Given the description of an element on the screen output the (x, y) to click on. 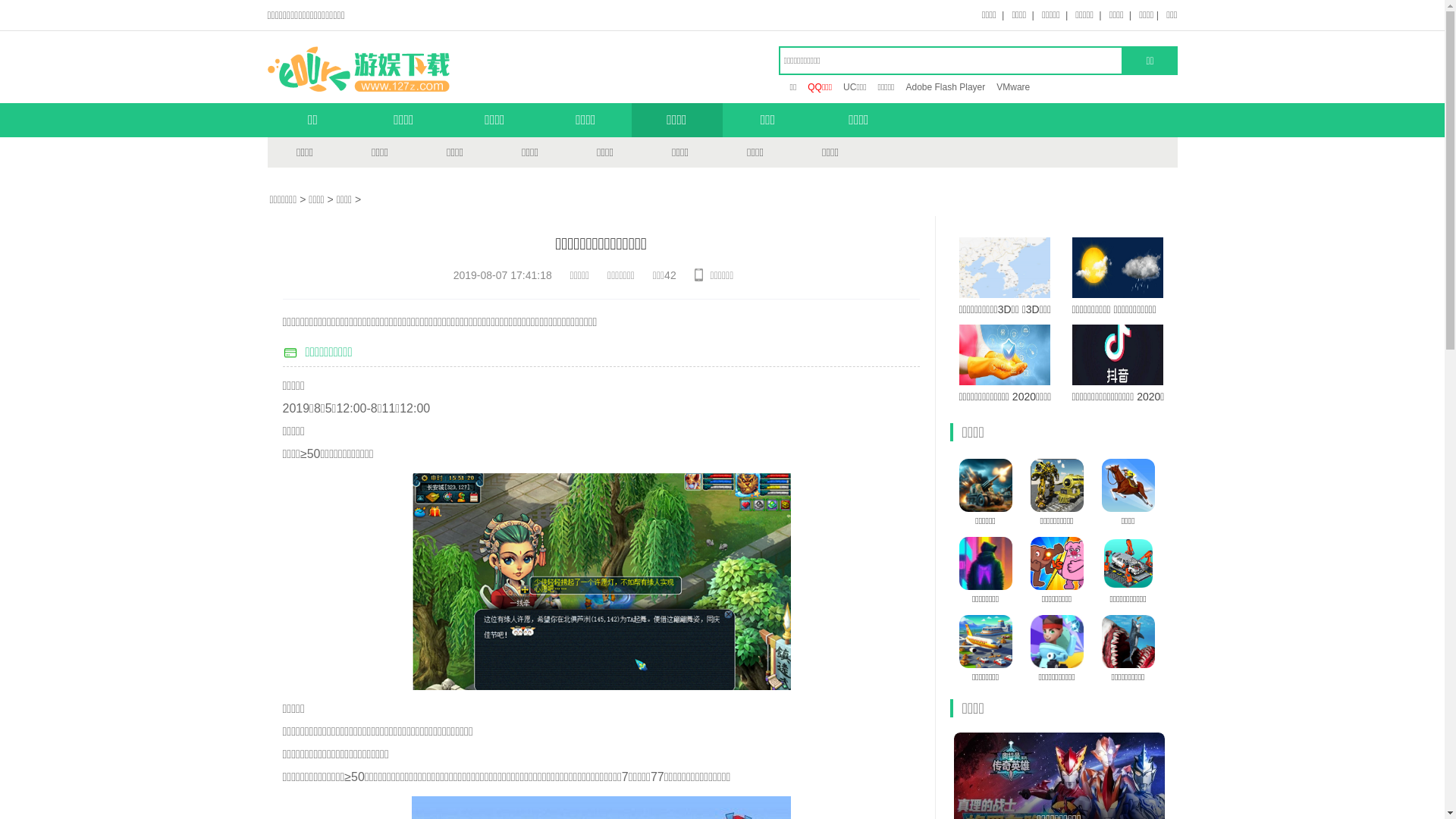
Adobe Flash Player Element type: text (945, 86)
VMware Element type: text (1012, 86)
